Given the description of an element on the screen output the (x, y) to click on. 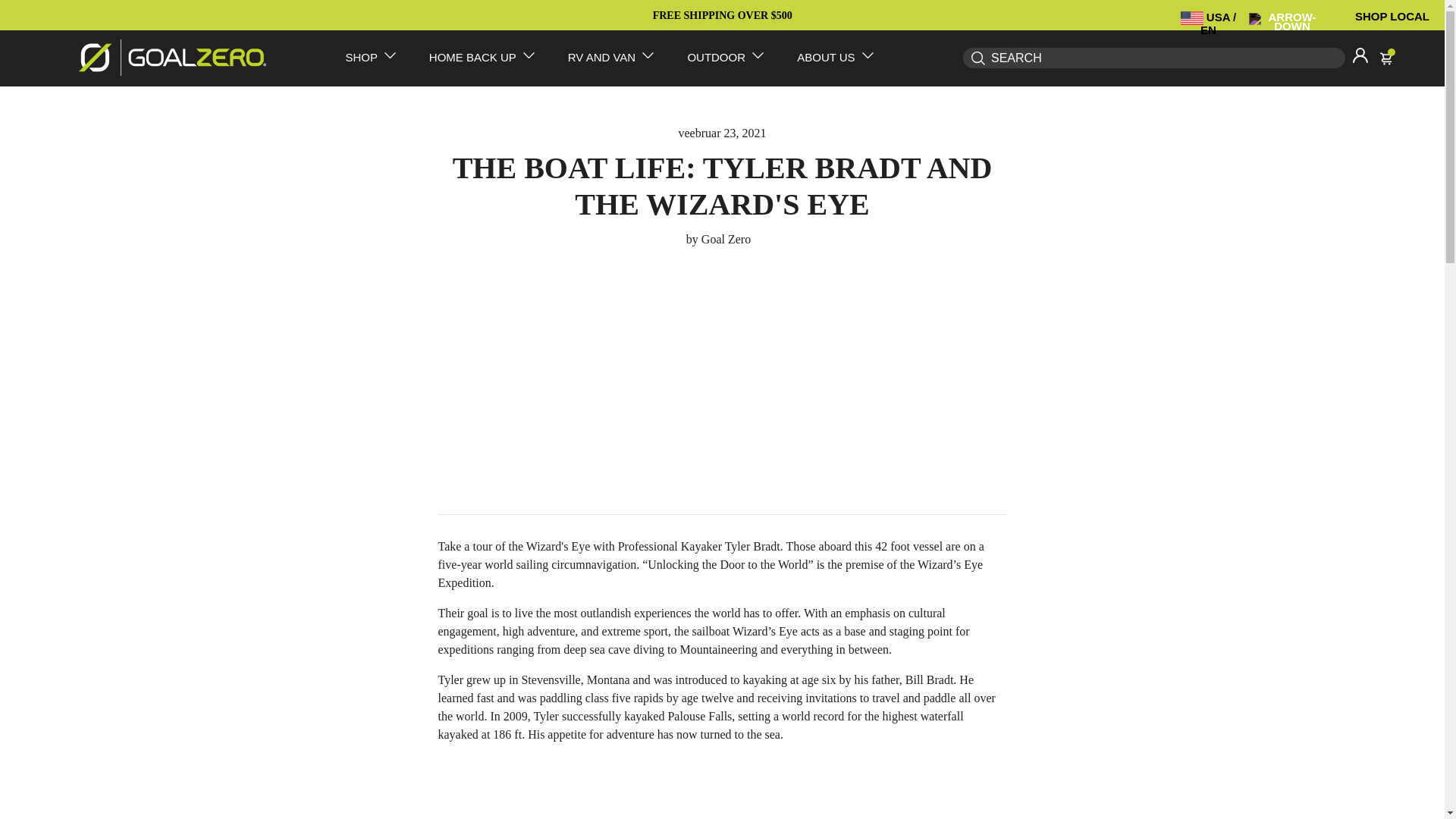
SHOP LOCAL (1392, 15)
